Given the description of an element on the screen output the (x, y) to click on. 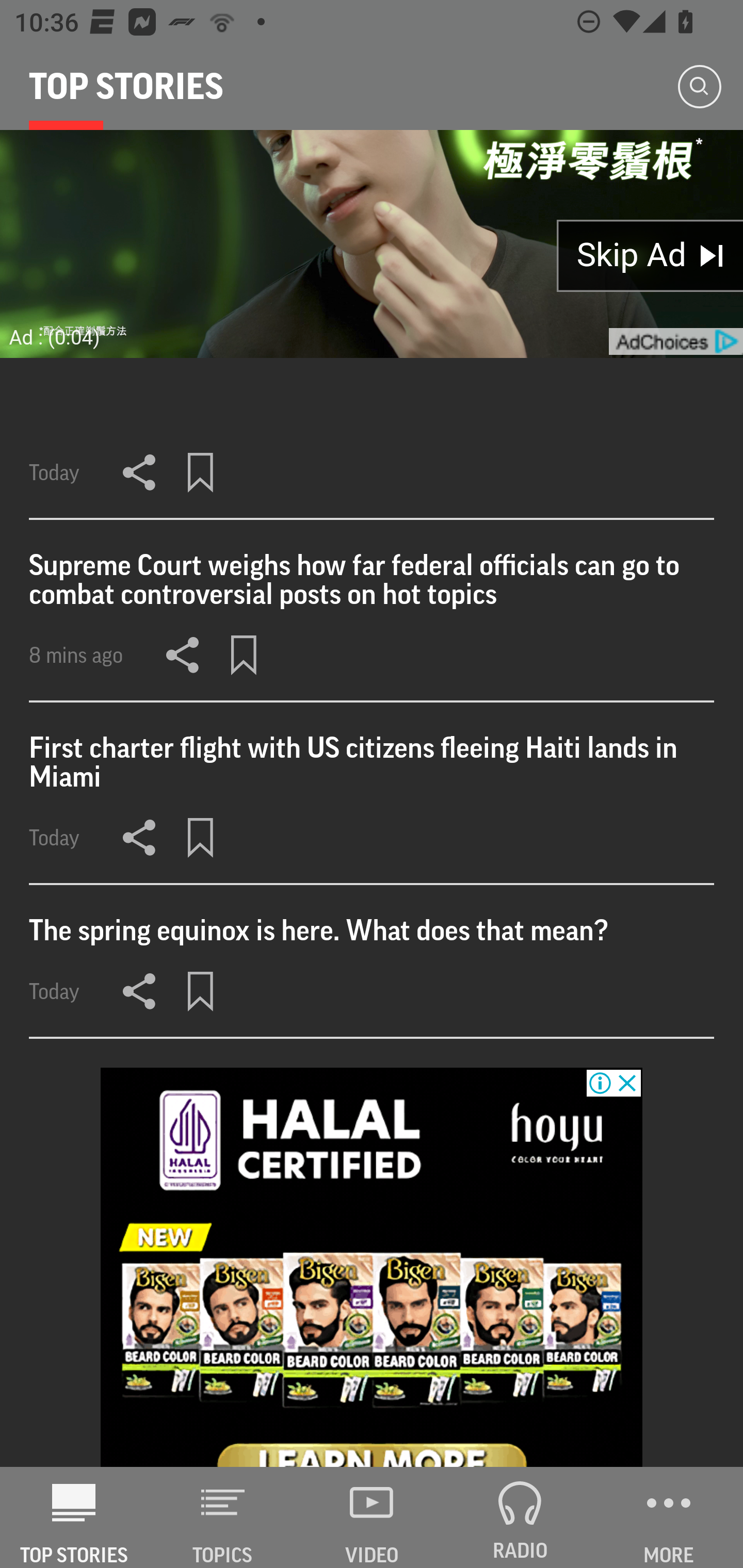
Ad : (0:04) get?name=admarker-full-tl (371, 244)
Ad : (0:04) (54, 337)
get?name=admarker-full-tl (675, 341)
28 (371, 1267)
AP News TOP STORIES (74, 1517)
TOPICS (222, 1517)
VIDEO (371, 1517)
RADIO (519, 1517)
MORE (668, 1517)
